Given the description of an element on the screen output the (x, y) to click on. 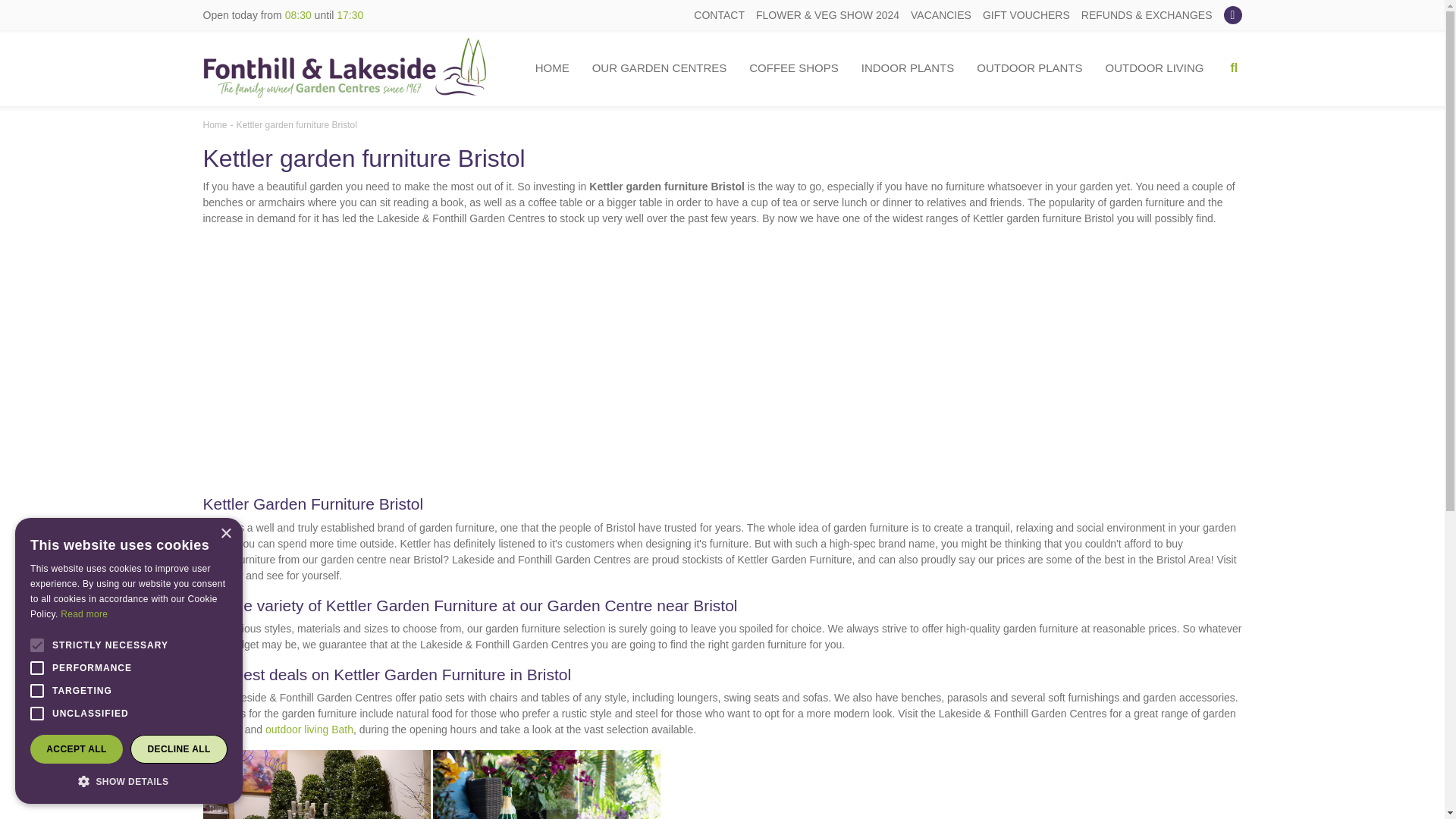
Coffee Shops (793, 68)
Kettler garden furniture Bristol (295, 124)
FB (1232, 14)
Outdoor Living (1154, 68)
OUTDOOR LIVING (1154, 68)
Contact (719, 14)
Vacancies (941, 14)
INDOOR PLANTS (908, 68)
Indoor Plants (908, 68)
GIFT VOUCHERS (1026, 14)
Gift Vouchers (1026, 14)
outdoor living Bath (308, 729)
VACANCIES (941, 14)
CONTACT (719, 14)
OUTDOOR PLANTS (1028, 68)
